Given the description of an element on the screen output the (x, y) to click on. 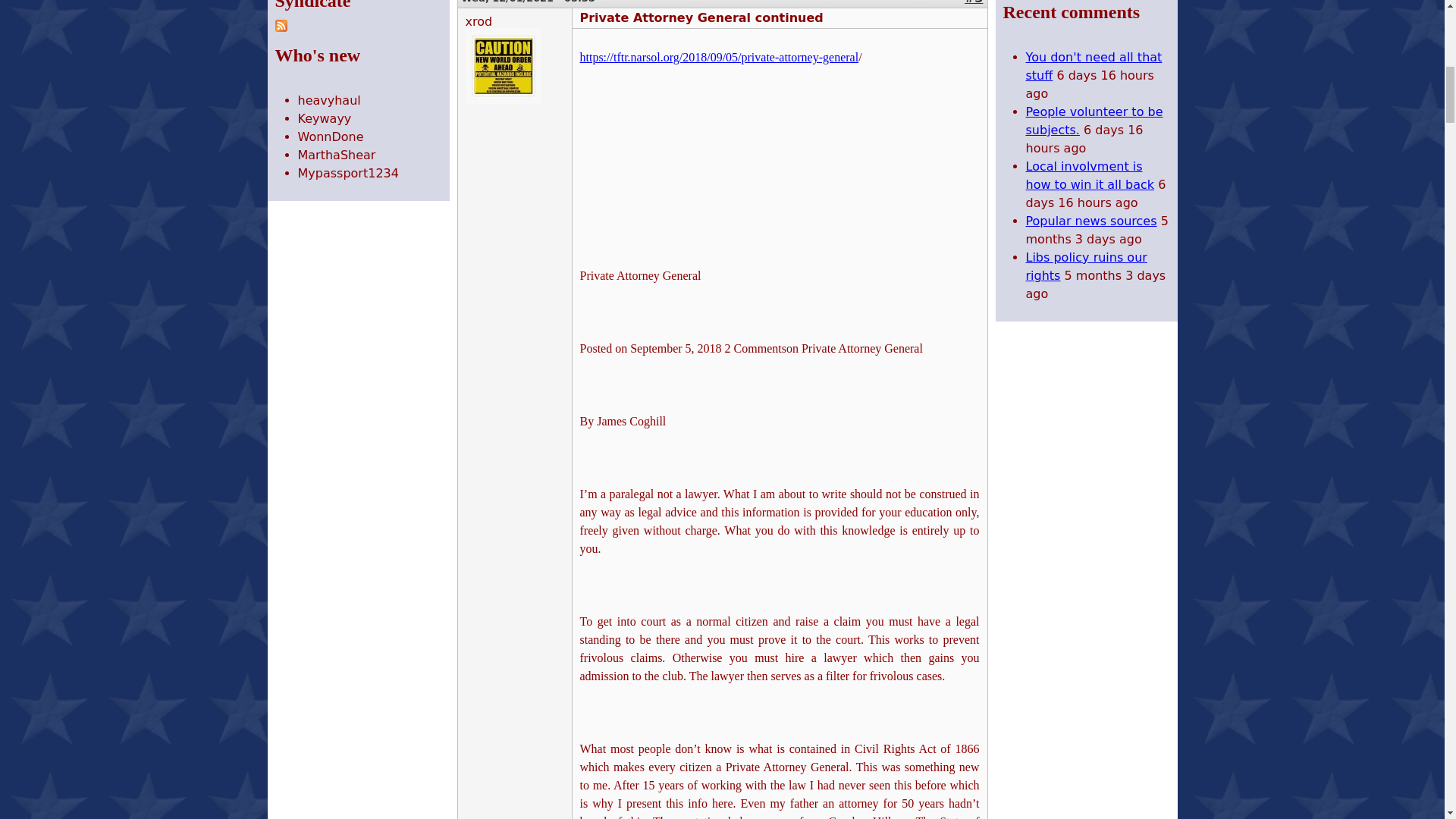
xrod's picture (503, 65)
